Given the description of an element on the screen output the (x, y) to click on. 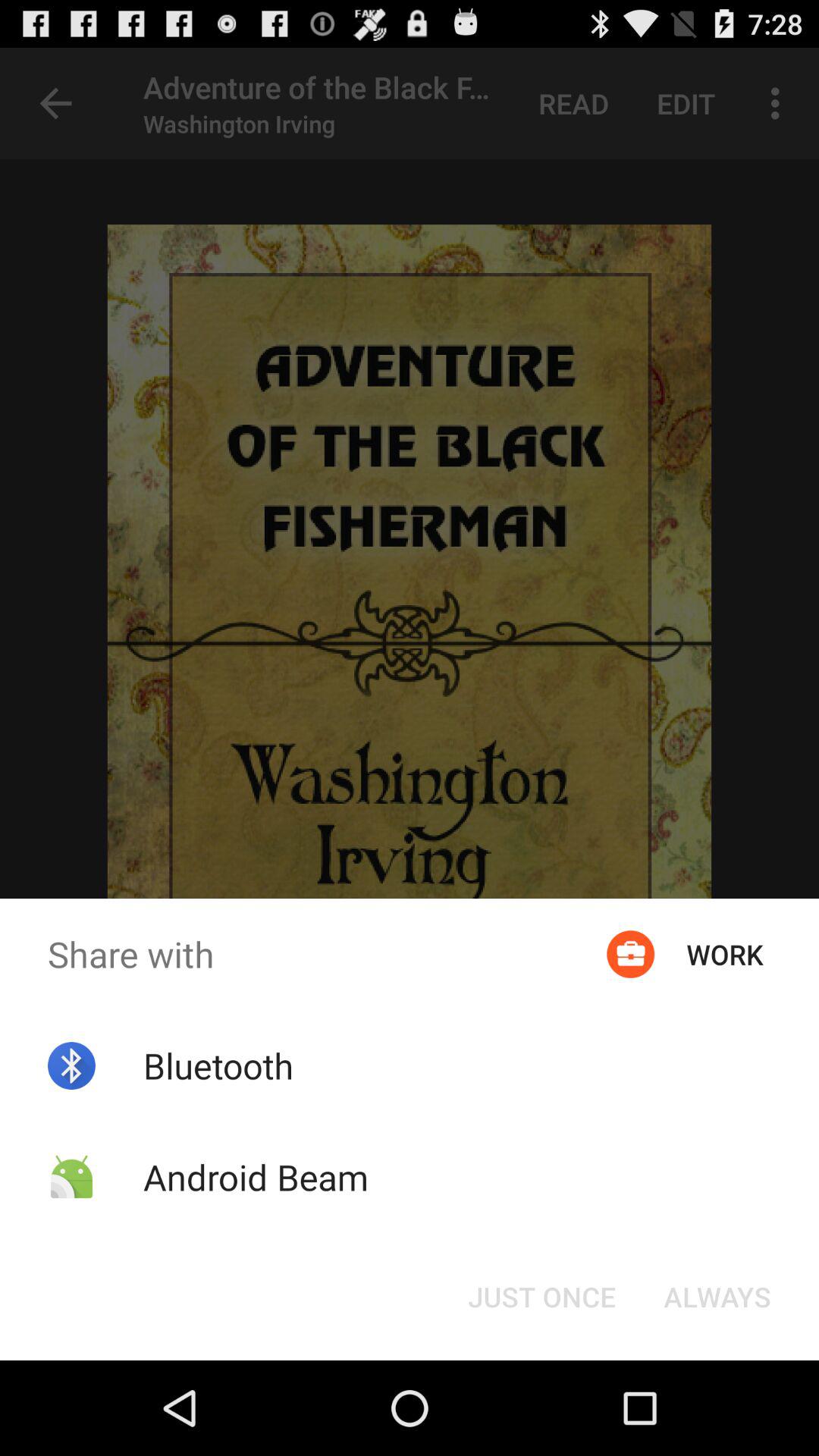
press button next to the just once (717, 1296)
